Given the description of an element on the screen output the (x, y) to click on. 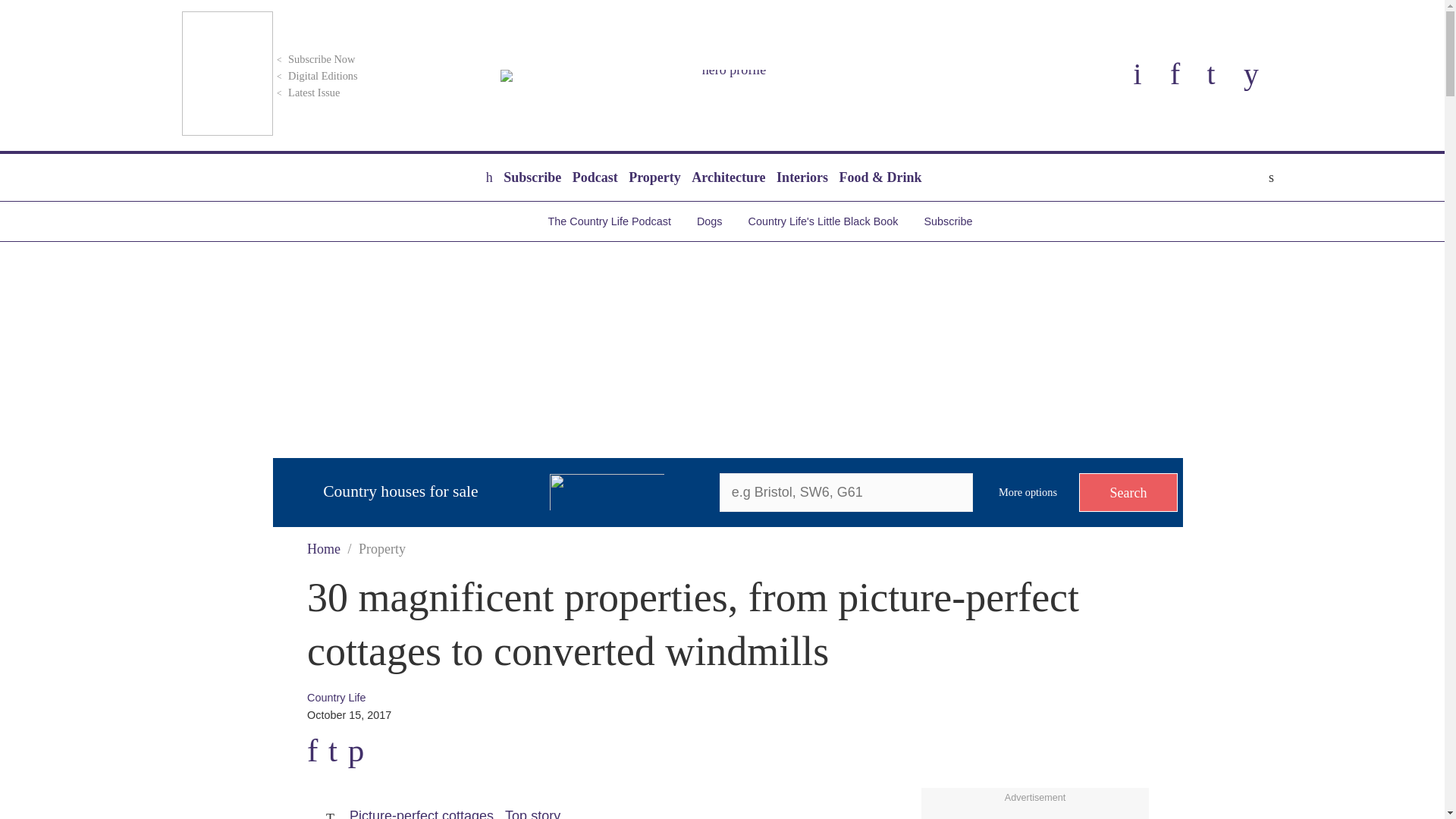
Country Life (727, 75)
Subscribe (531, 176)
Interiors (802, 176)
Latest Issue (306, 92)
Podcast (595, 176)
Architecture (727, 176)
Property (654, 176)
Digital Editions (315, 75)
Subscribe Now (314, 59)
